Given the description of an element on the screen output the (x, y) to click on. 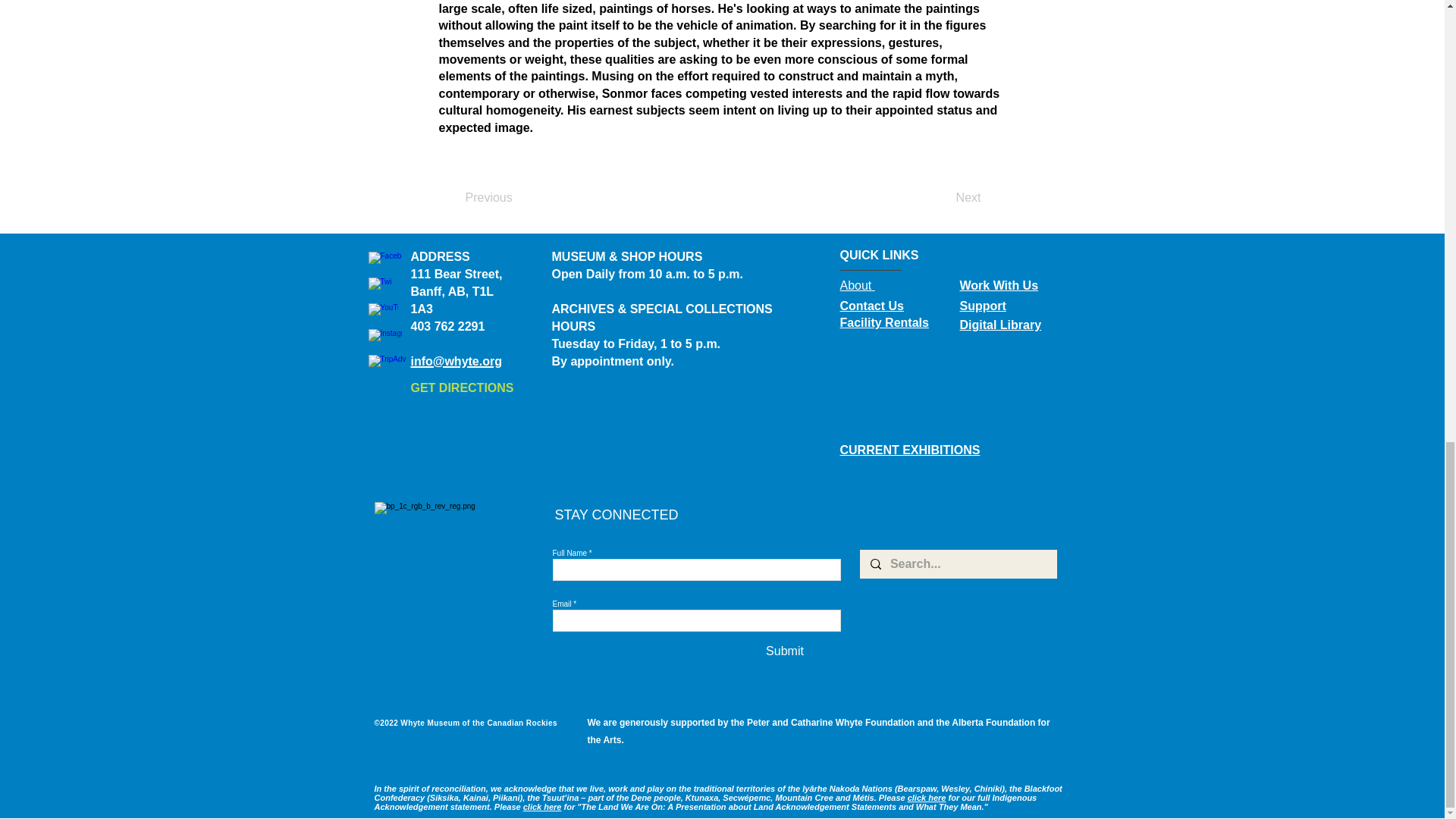
Submit (785, 651)
GET DIRECTIONS (461, 387)
Digital Library (1000, 324)
click here (926, 797)
CURRENT EXHIBITIONS (909, 449)
Next (943, 197)
click here (542, 806)
Peter and Catharine Whyte Foundation (830, 722)
Support (982, 305)
Previous (515, 197)
